Given the description of an element on the screen output the (x, y) to click on. 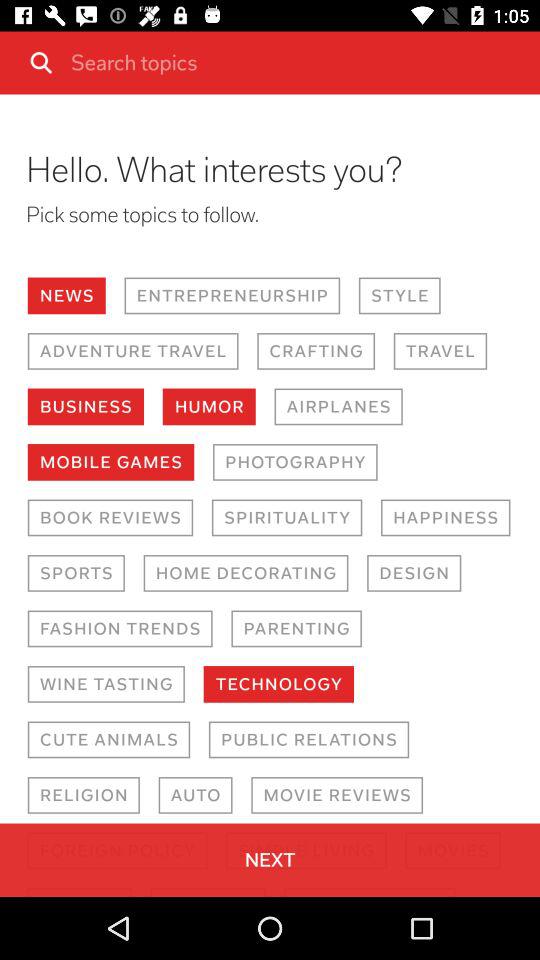
open icon below the adventure travel item (85, 406)
